Given the description of an element on the screen output the (x, y) to click on. 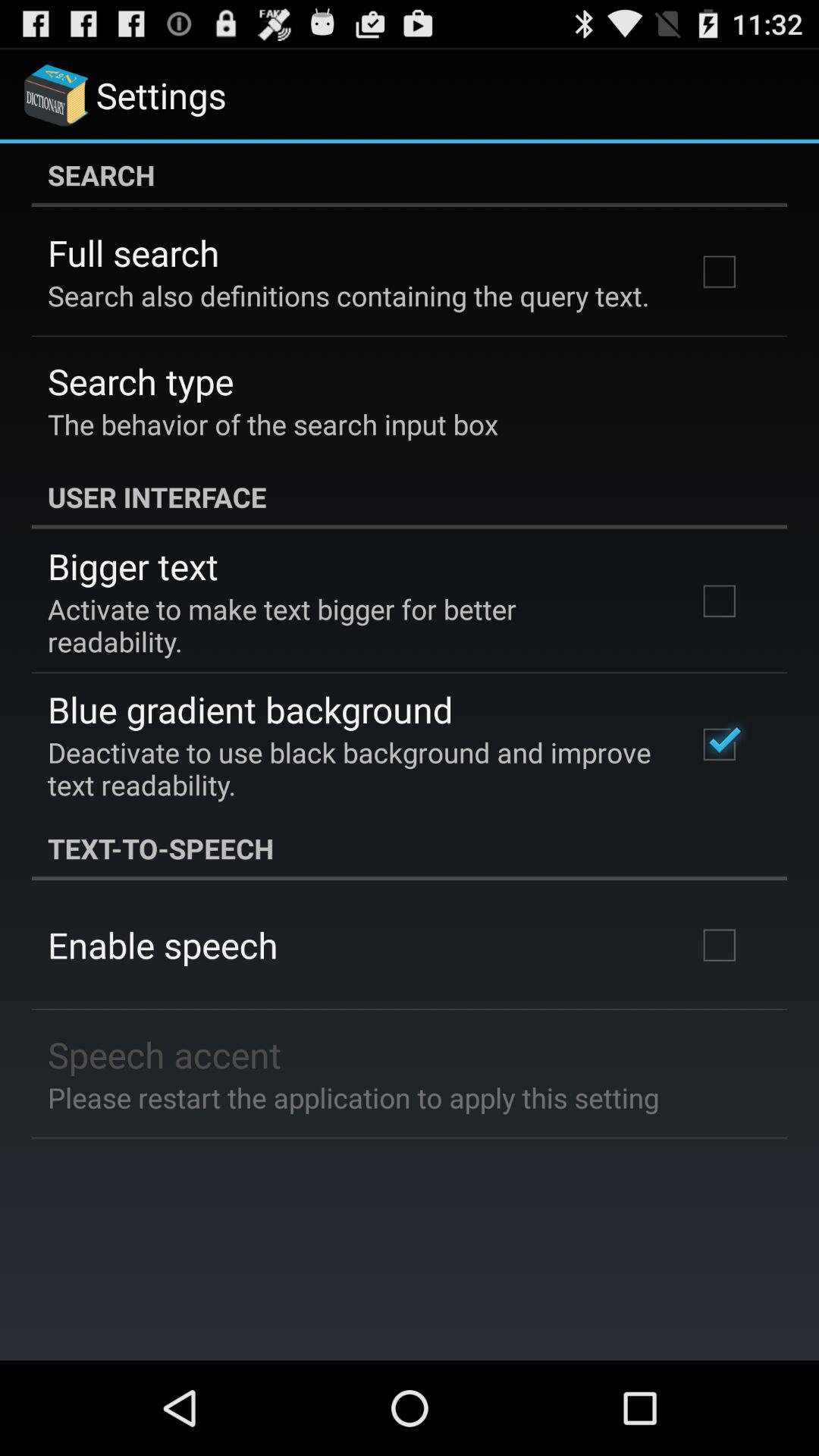
swipe until the user interface icon (409, 496)
